Given the description of an element on the screen output the (x, y) to click on. 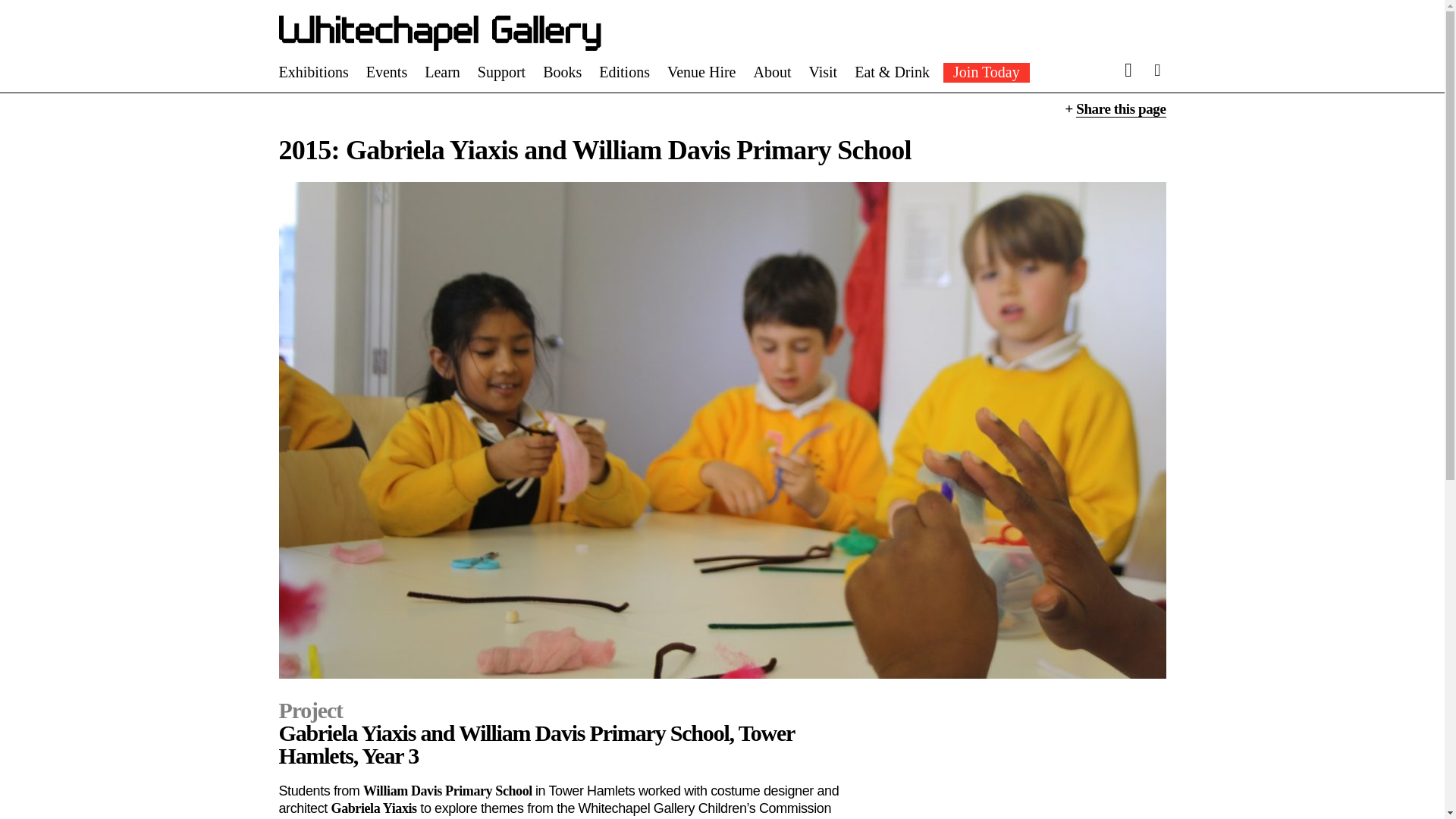
Go (1045, 45)
Support (501, 71)
Venue Hire (701, 71)
Books (561, 71)
Go (1045, 45)
Search (914, 44)
Editions (623, 71)
About (771, 71)
Events (386, 71)
Join Today (986, 72)
Visit (822, 71)
Learn (442, 71)
Exhibitions (314, 71)
